Given the description of an element on the screen output the (x, y) to click on. 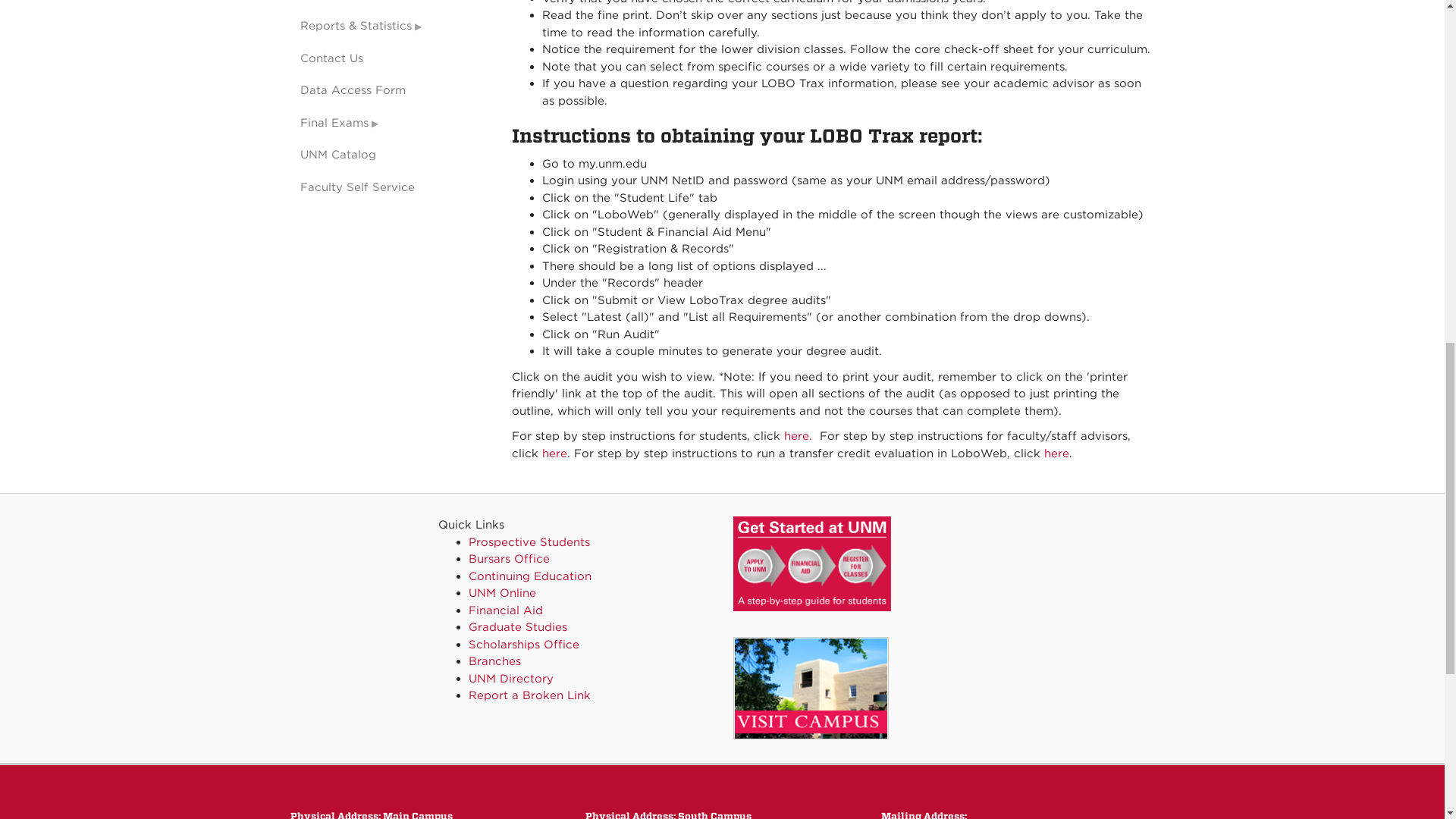
here (1055, 453)
Lobotrax-transfer (1055, 453)
here (554, 453)
Lobotrax-Student (798, 436)
here. (798, 436)
Lobotrax-staff-faculty (554, 453)
